Given the description of an element on the screen output the (x, y) to click on. 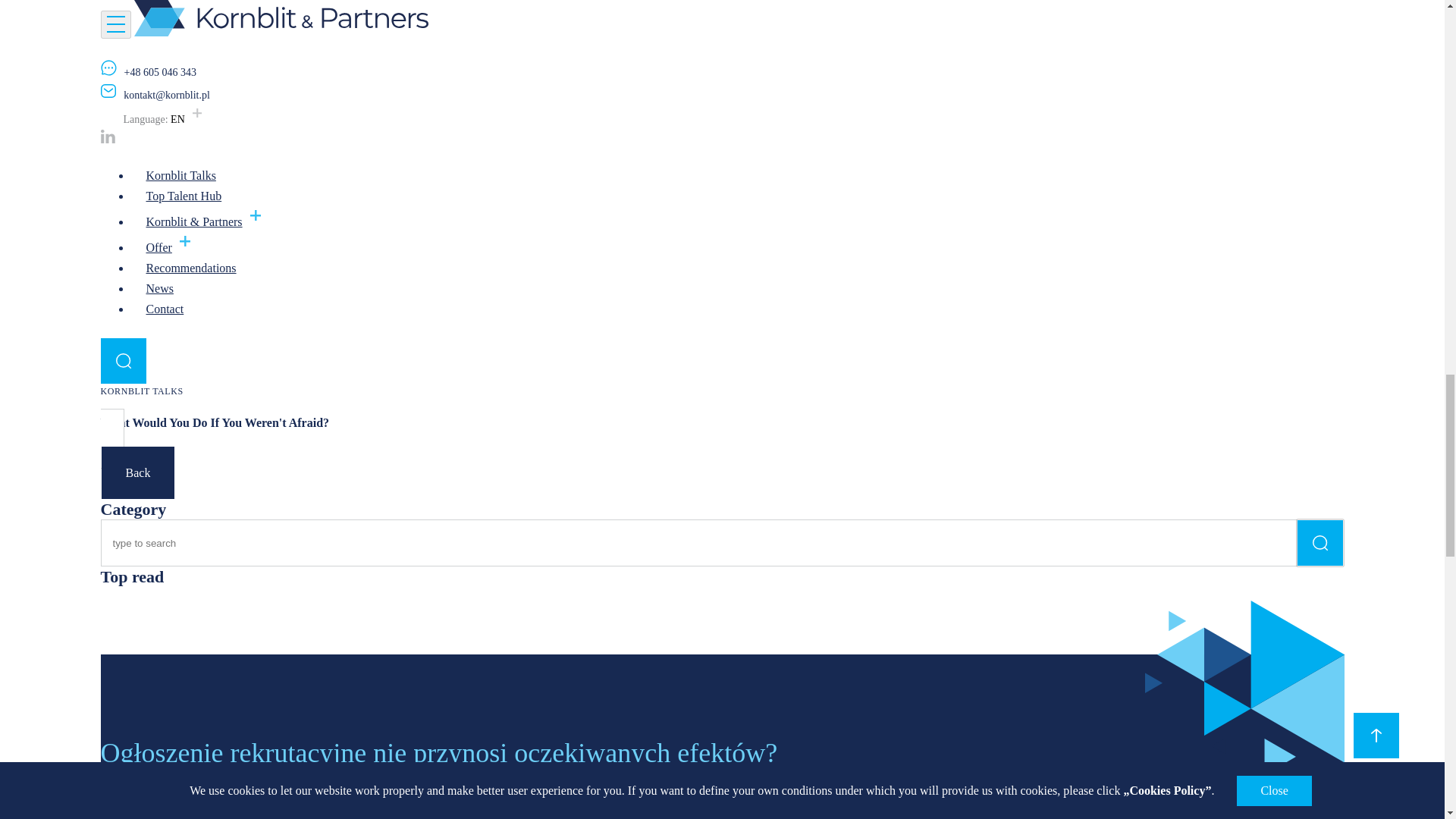
Previous (122, 42)
Back (1331, 264)
